Given the description of an element on the screen output the (x, y) to click on. 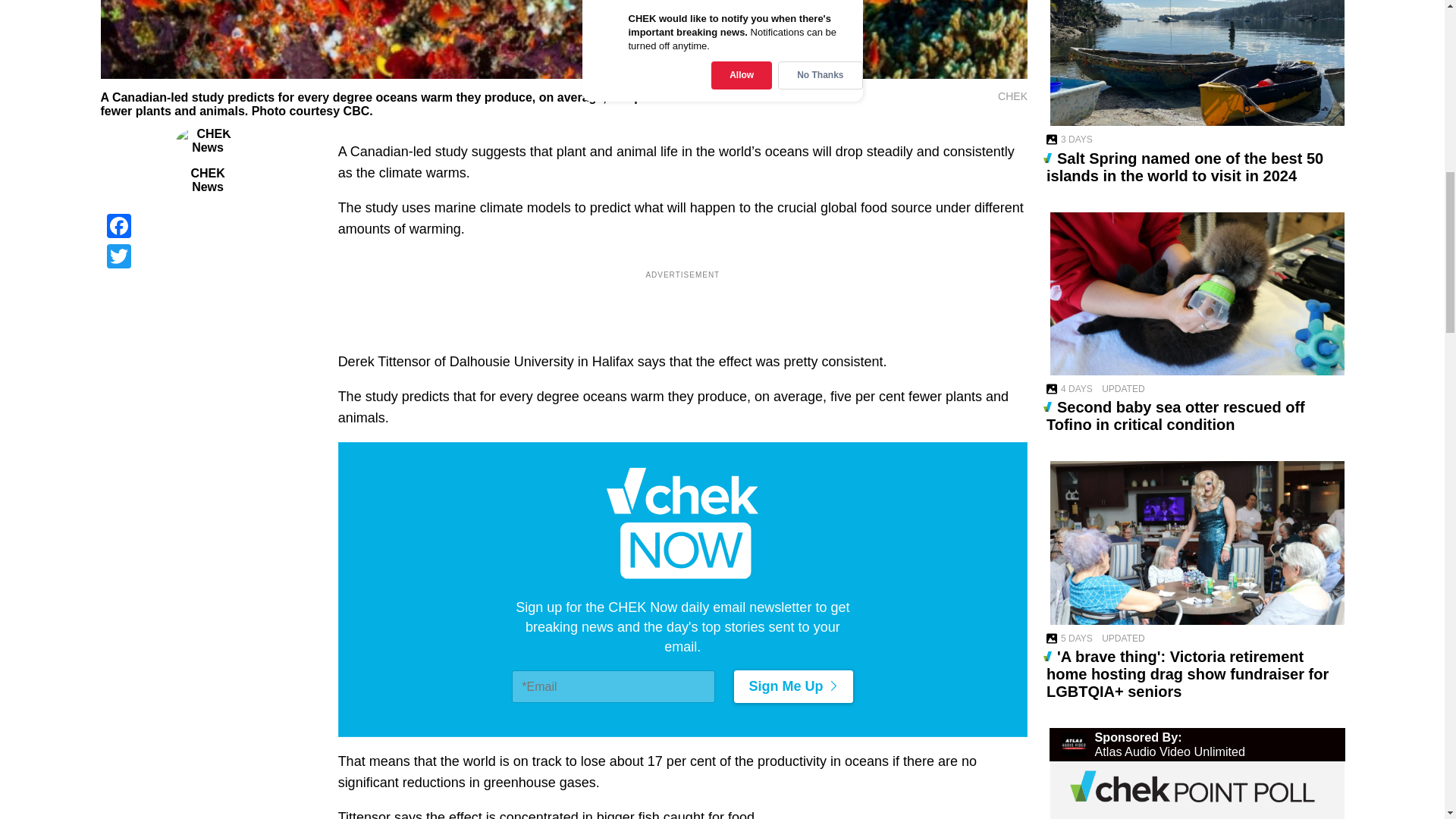
Facebook (207, 225)
Twitter (207, 255)
